Given the description of an element on the screen output the (x, y) to click on. 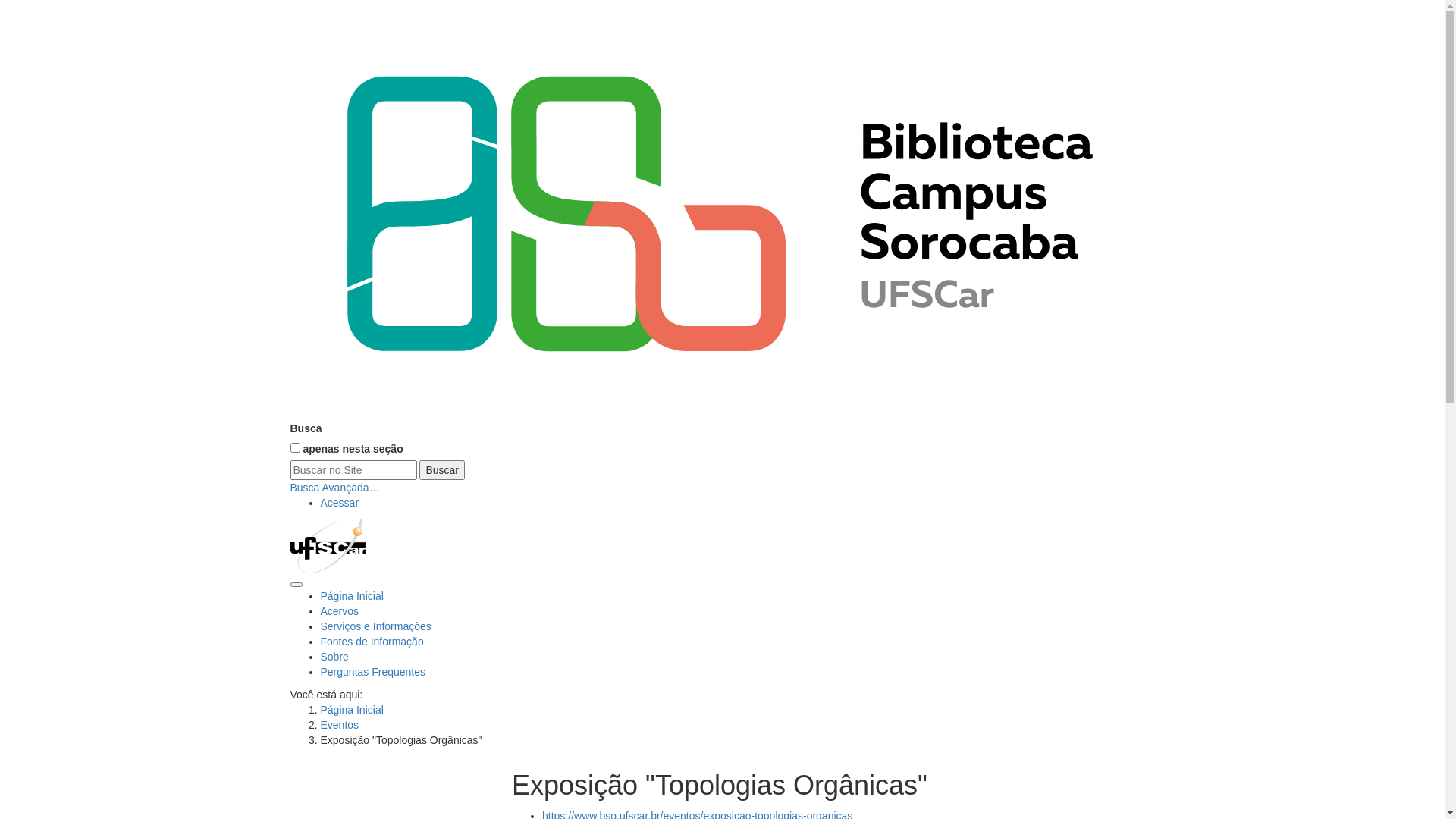
Toggle navigation Element type: text (295, 584)
Portal UFSCar Element type: hover (327, 544)
Acessar Element type: text (339, 502)
Eventos Element type: text (339, 724)
Acervos Element type: text (339, 611)
Buscar Element type: text (441, 470)
Sobre Element type: text (334, 656)
Perguntas Frequentes Element type: text (372, 671)
Buscar no Site Element type: hover (352, 470)
Biblioteca Campus Sorocaba - B-So UFSCar Element type: hover (721, 210)
Biblioteca Sorocaba Element type: hover (721, 209)
